Given the description of an element on the screen output the (x, y) to click on. 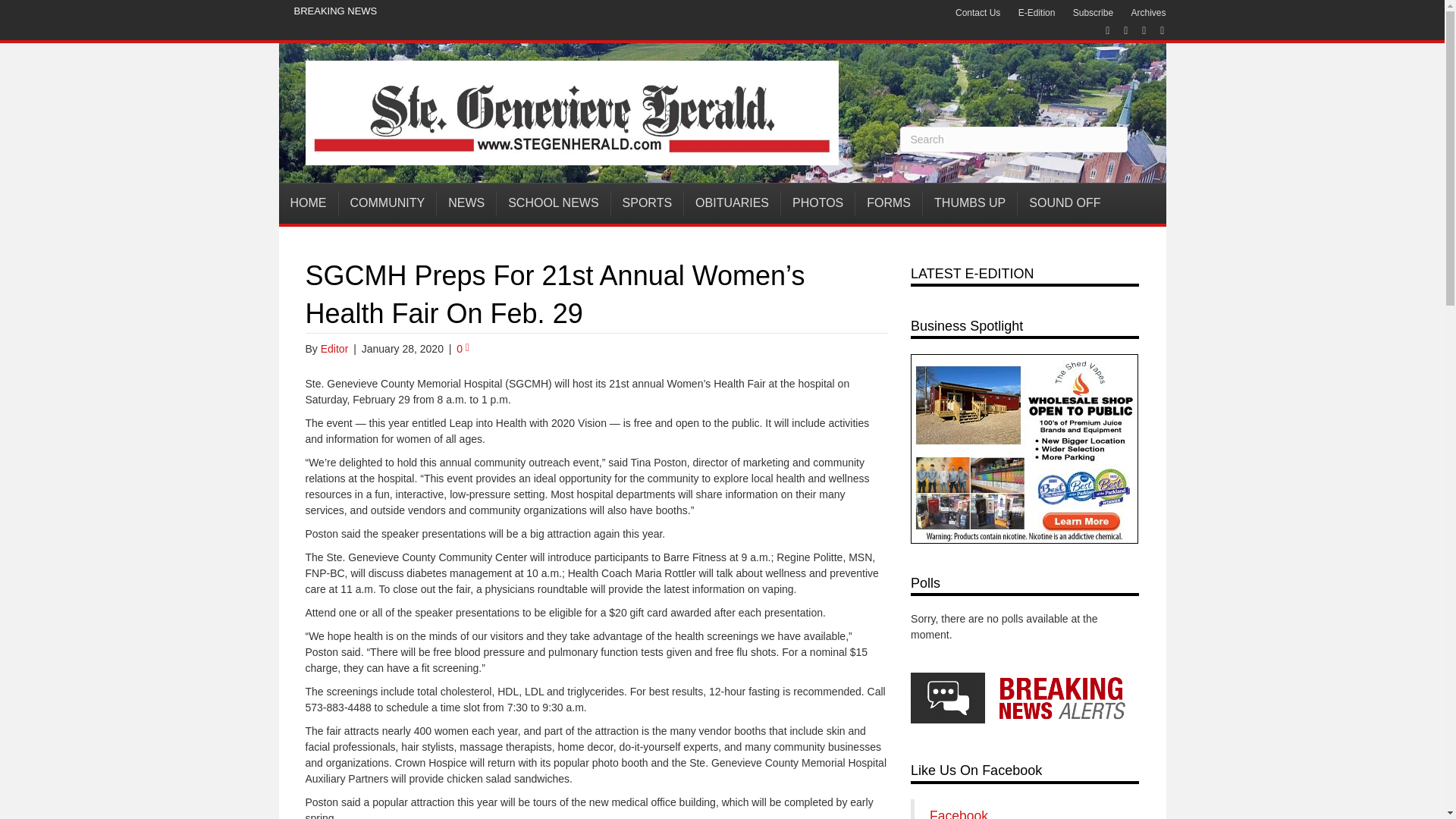
COMMUNITY (386, 202)
SCHOOL NEWS (553, 202)
Linkedin (1135, 30)
HOME (309, 202)
Facebook (1099, 30)
FORMS (889, 202)
Twitter (1117, 30)
Contact Us (977, 13)
Email (1154, 30)
Type and press Enter to search. (1012, 139)
Archives (1147, 13)
PHOTOS (818, 202)
SPORTS (647, 202)
NEWS (466, 202)
OBITUARIES (732, 202)
